Given the description of an element on the screen output the (x, y) to click on. 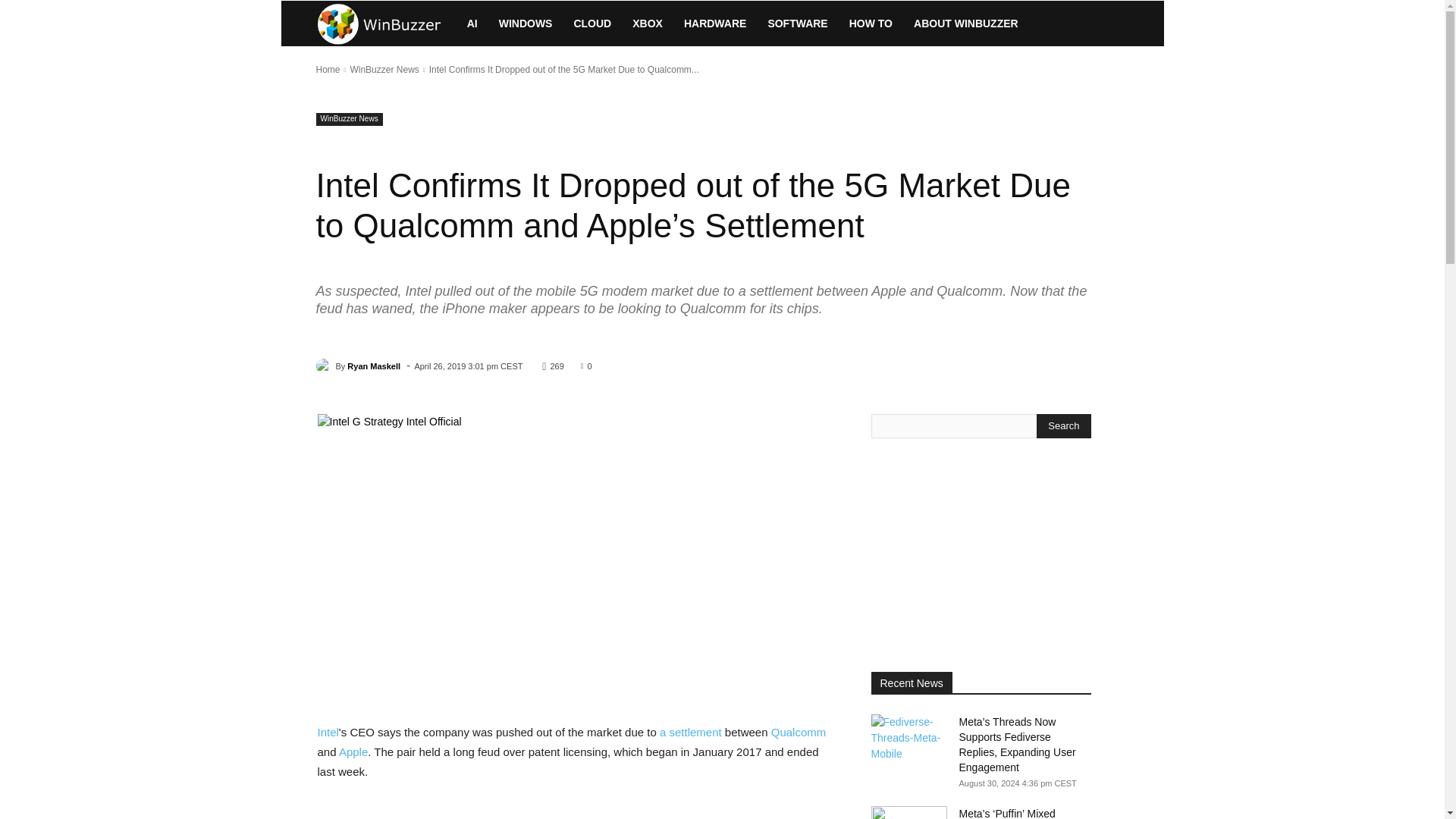
Posts tagged with Apple (353, 751)
Posts tagged with Qualcomm (799, 731)
Ryan Maskell (324, 365)
Posts tagged with Intel (327, 731)
Search (1063, 426)
View all posts in WinBuzzer News (384, 69)
